Given the description of an element on the screen output the (x, y) to click on. 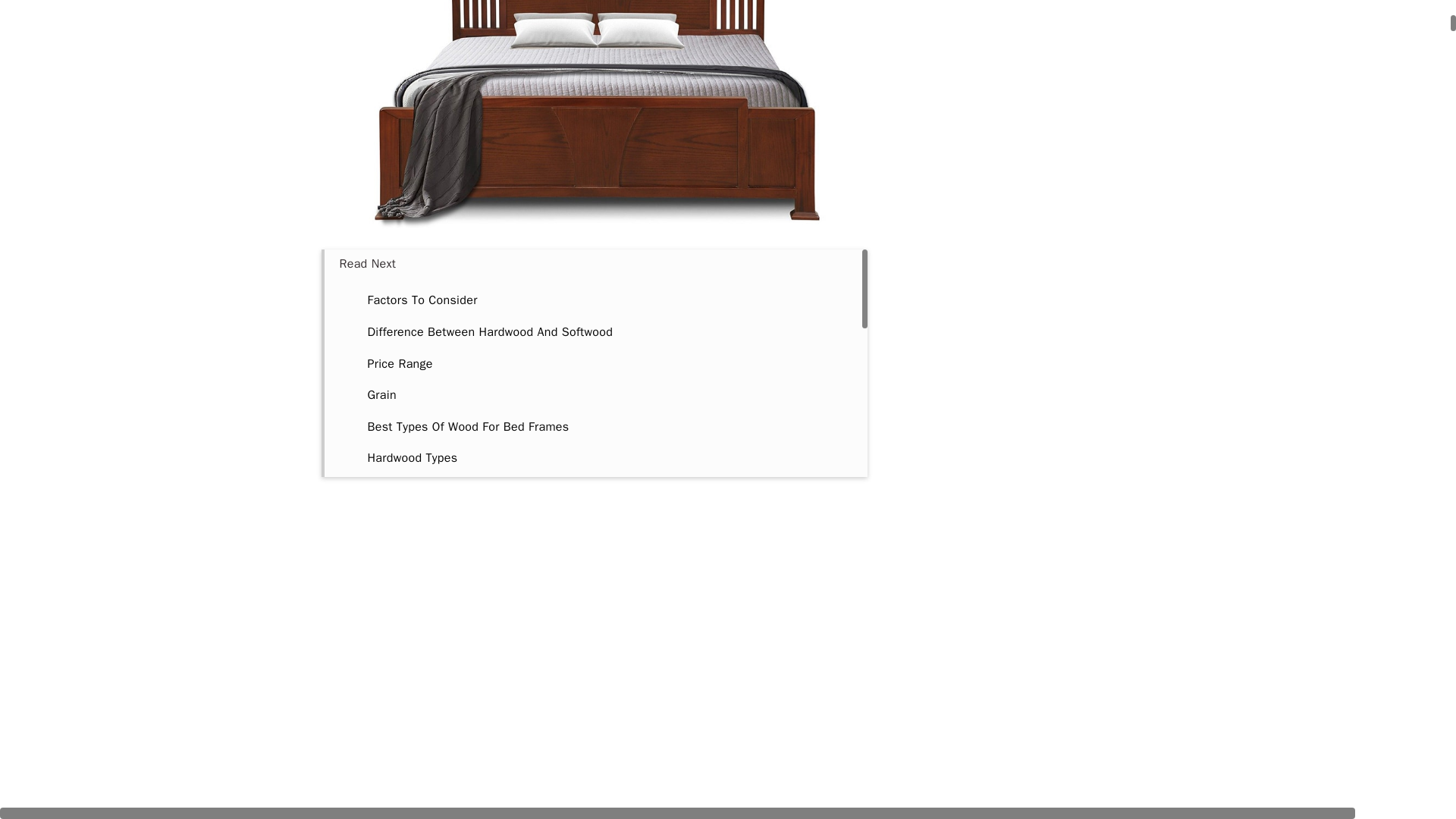
Difference Between Hardwood And Softwood (489, 331)
Birch (380, 552)
Best Types Of Wood For Bed Frames (467, 426)
Walnut (385, 647)
Cherry (383, 521)
Mahogany (394, 584)
Factors To Consider (421, 299)
Hardwood Types (411, 458)
Maple (383, 489)
Price Range (399, 363)
